Given the description of an element on the screen output the (x, y) to click on. 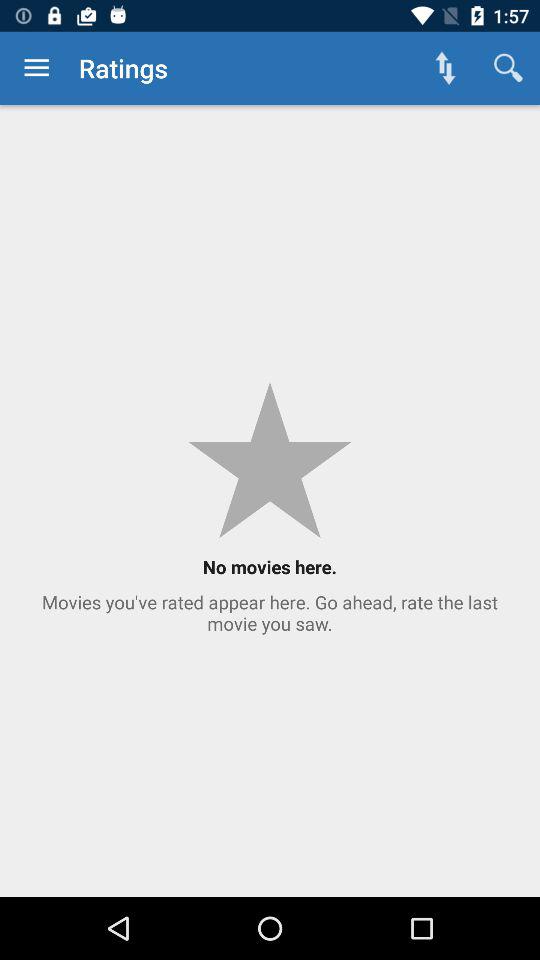
choose the item next to ratings app (36, 68)
